Given the description of an element on the screen output the (x, y) to click on. 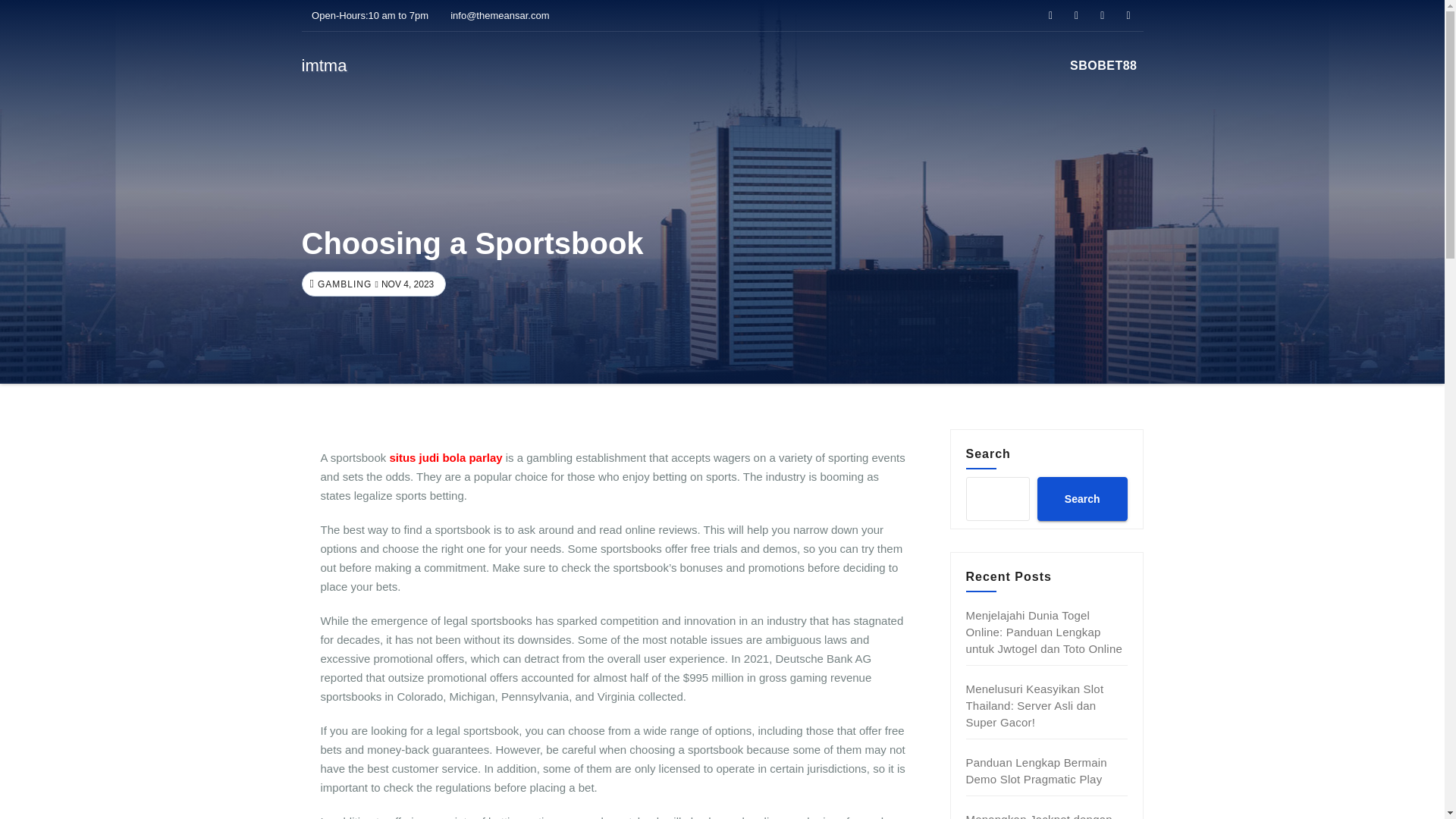
Search (1081, 498)
SBOBET88 (1103, 65)
Open-Hours:10 am to 7pm (365, 15)
SBOBET88 (1103, 65)
Panduan Lengkap Bermain Demo Slot Pragmatic Play (1036, 770)
situs judi bola parlay (445, 457)
GAMBLING (342, 284)
imtma (324, 65)
